Given the description of an element on the screen output the (x, y) to click on. 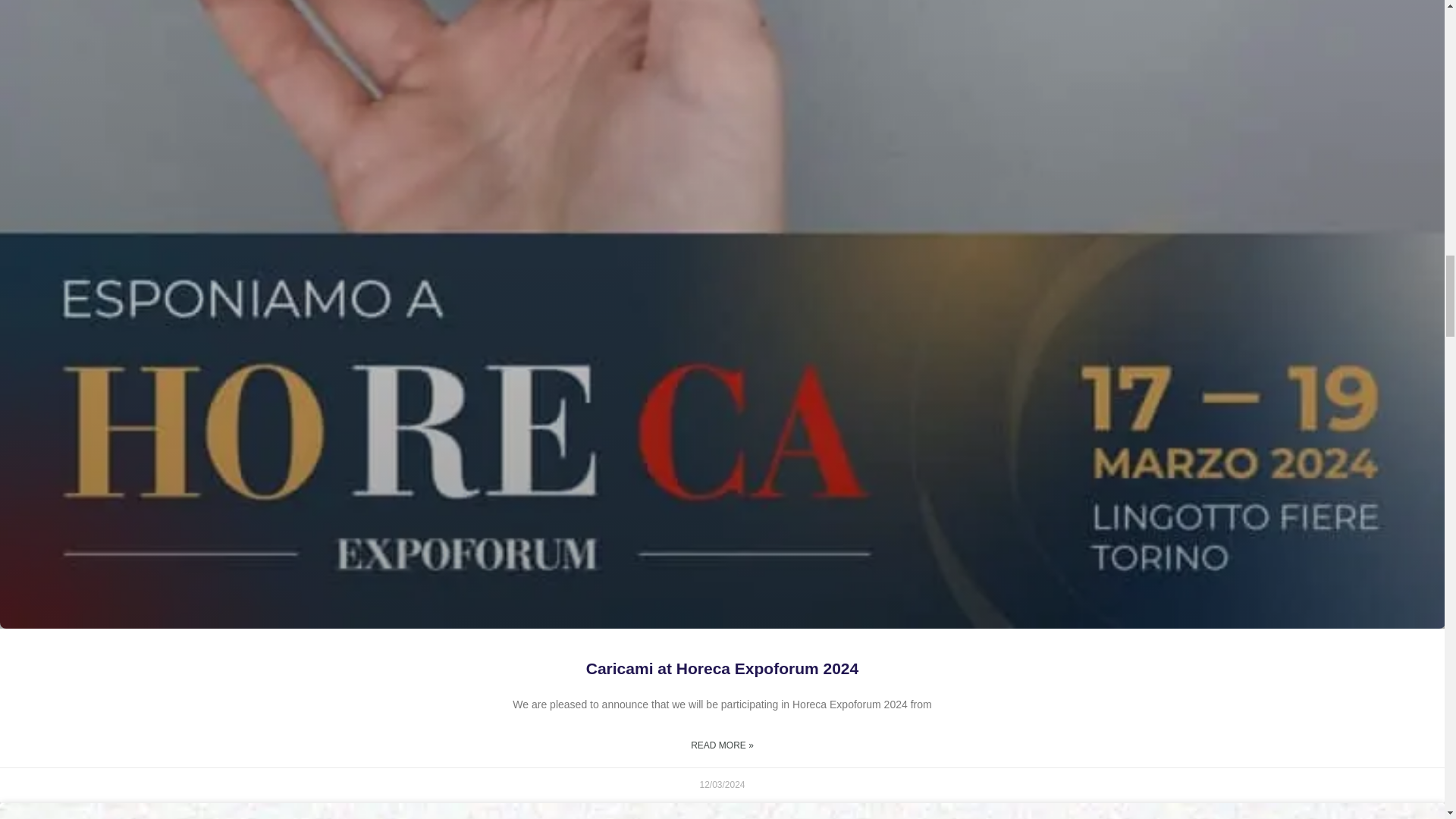
Caricami at Horeca Expoforum 2024 (722, 668)
